Given the description of an element on the screen output the (x, y) to click on. 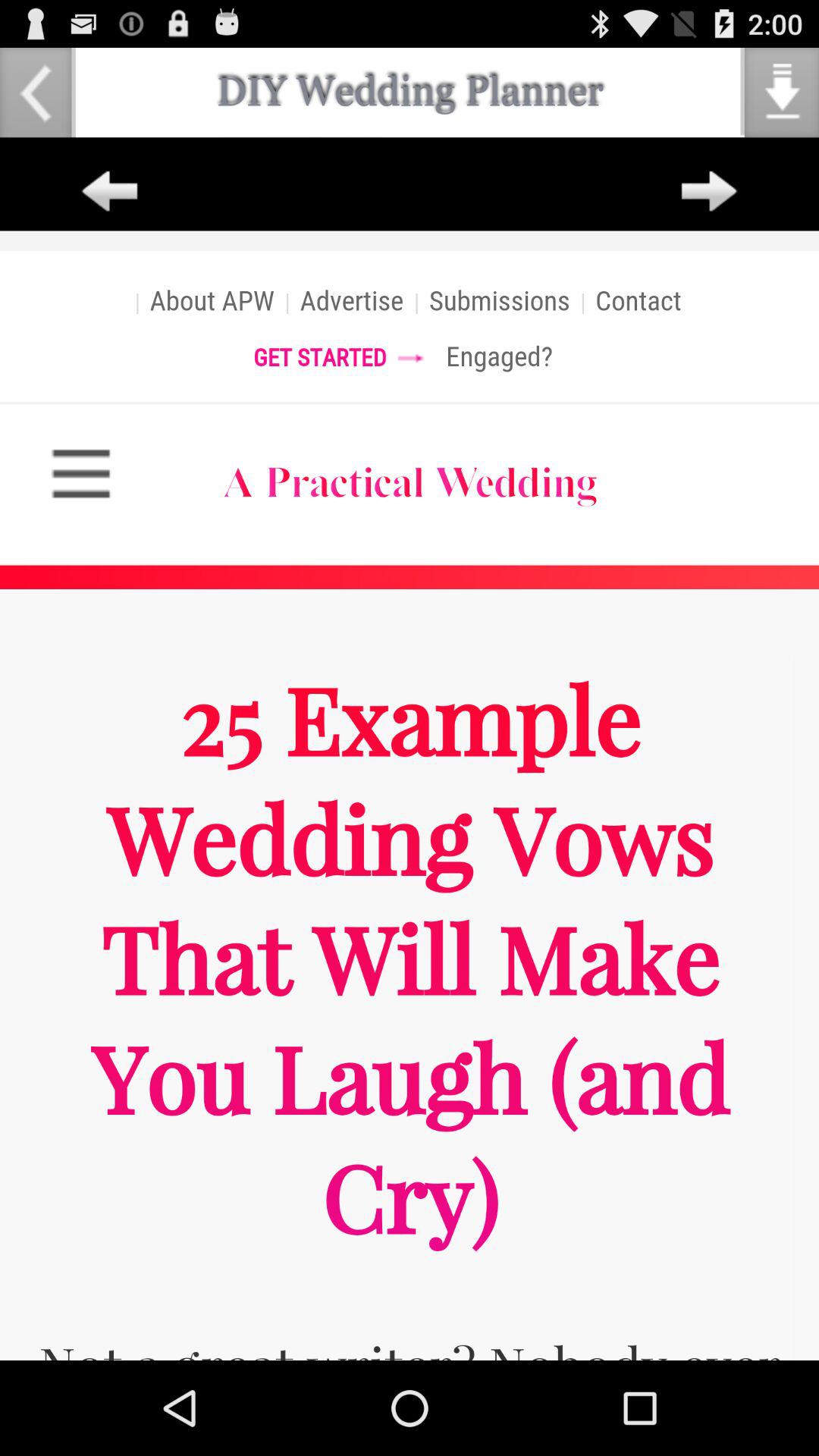
go forward (709, 192)
